Given the description of an element on the screen output the (x, y) to click on. 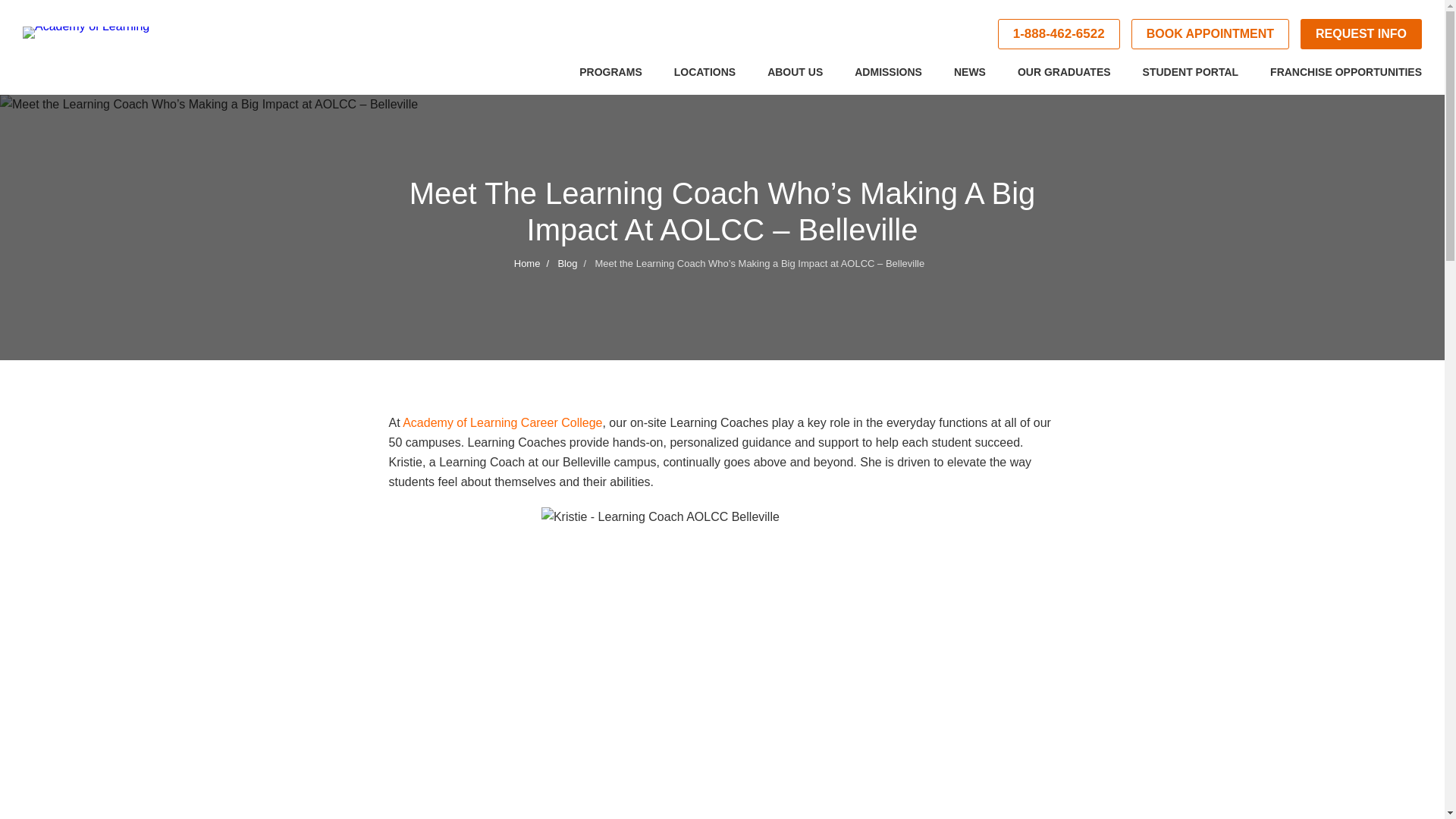
Academy of Learning (117, 46)
LOCATIONS (704, 79)
REQUEST INFO (1361, 33)
Locations (704, 79)
1-888-462-6522 (1058, 33)
PROGRAMS (610, 79)
Book Appointment (1209, 33)
Request Info (1361, 33)
1-888-462-6522 (1058, 33)
BOOK APPOINTMENT (1209, 33)
